Given the description of an element on the screen output the (x, y) to click on. 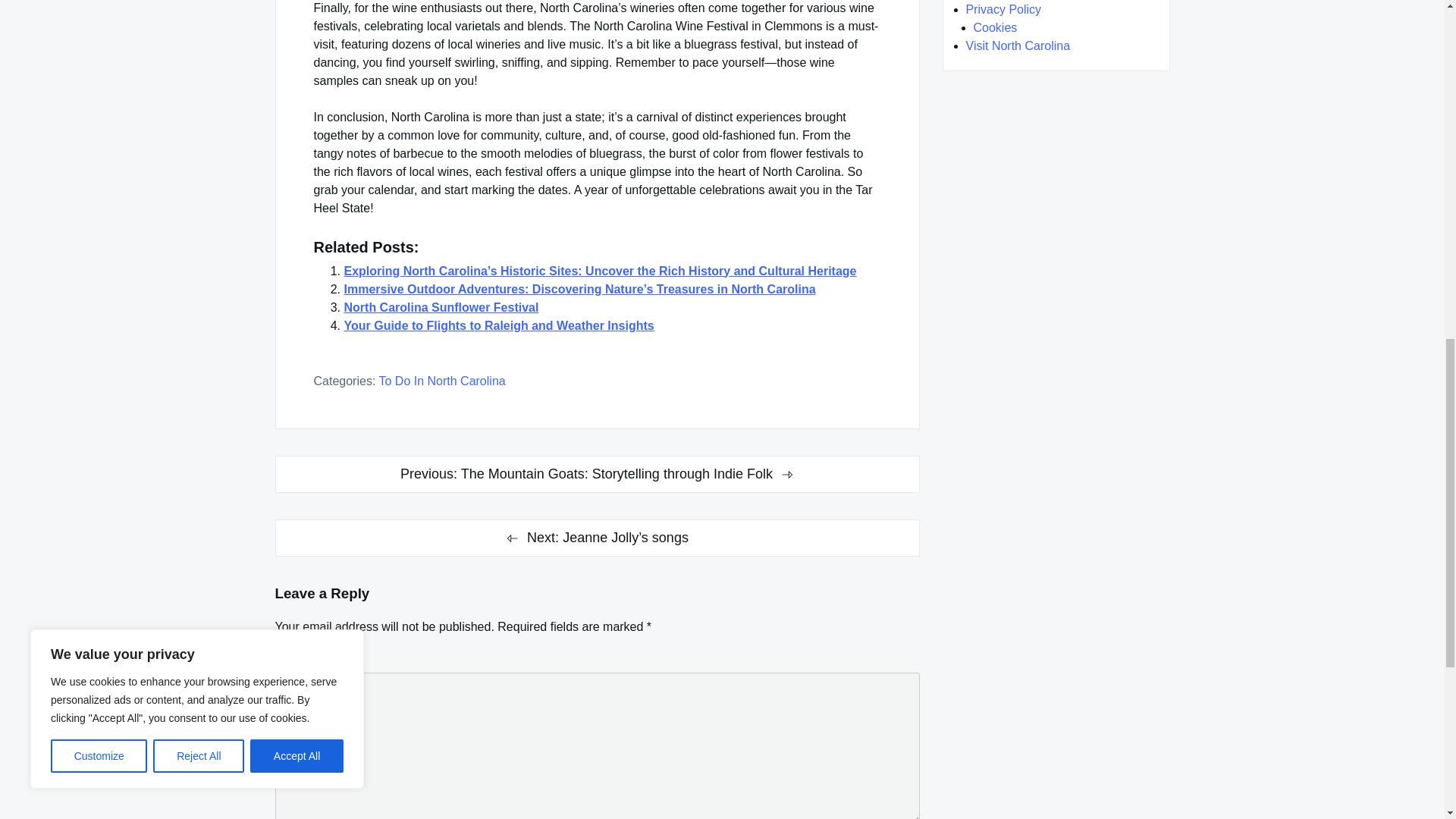
North Carolina Sunflower Festival (440, 307)
Your Guide to Flights to Raleigh and Weather Insights (498, 325)
Your Guide to Flights to Raleigh and Weather Insights (498, 325)
To Do In North Carolina (441, 380)
North Carolina Sunflower Festival (440, 307)
